Given the description of an element on the screen output the (x, y) to click on. 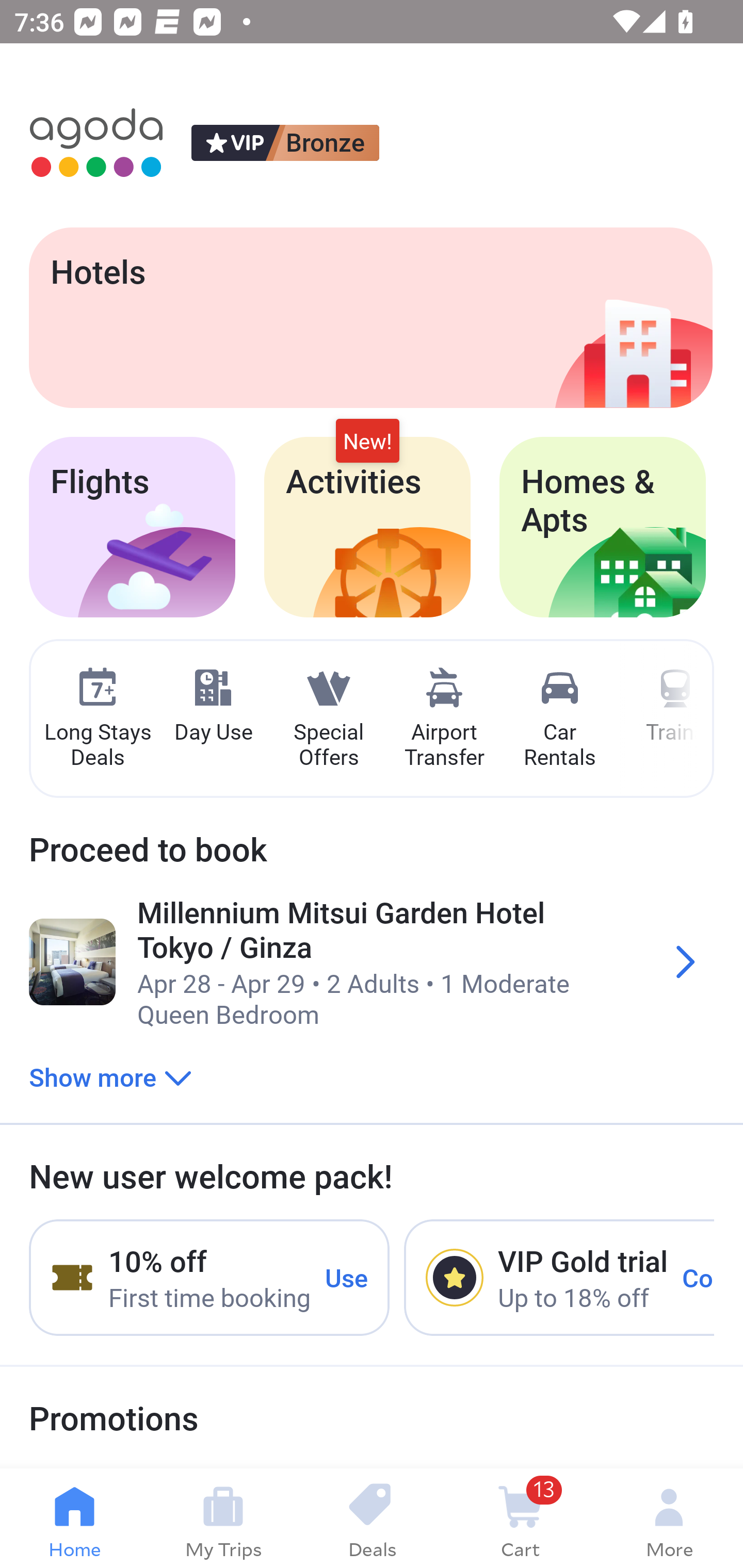
Hotels (370, 317)
New! (367, 441)
Flights (131, 527)
Activities (367, 527)
Homes & Apts (602, 527)
Day Use (213, 706)
Long Stays Deals (97, 718)
Special Offers (328, 718)
Airport Transfer (444, 718)
Car Rentals (559, 718)
Show more (110, 1076)
Use (346, 1277)
Home (74, 1518)
My Trips (222, 1518)
Deals (371, 1518)
13 Cart (519, 1518)
More (668, 1518)
